Given the description of an element on the screen output the (x, y) to click on. 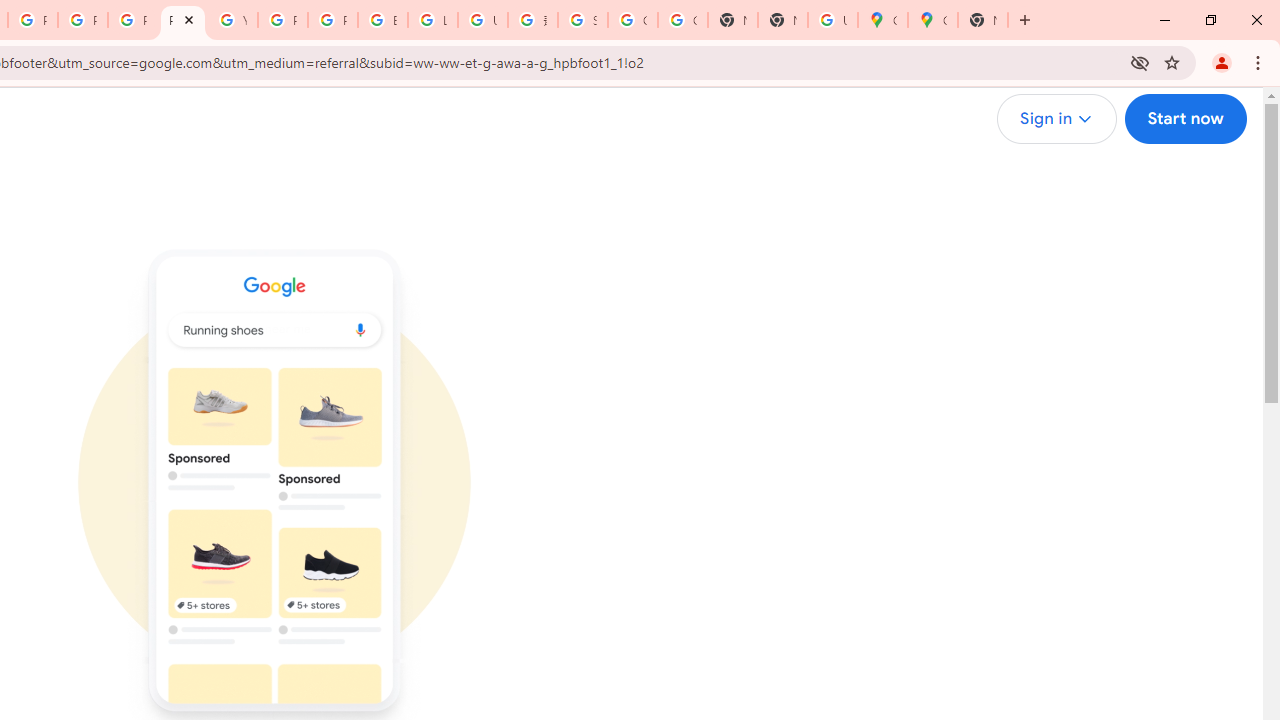
Privacy Help Center - Policies Help (132, 20)
Google Maps (932, 20)
Google Maps (882, 20)
New Tab (782, 20)
